Given the description of an element on the screen output the (x, y) to click on. 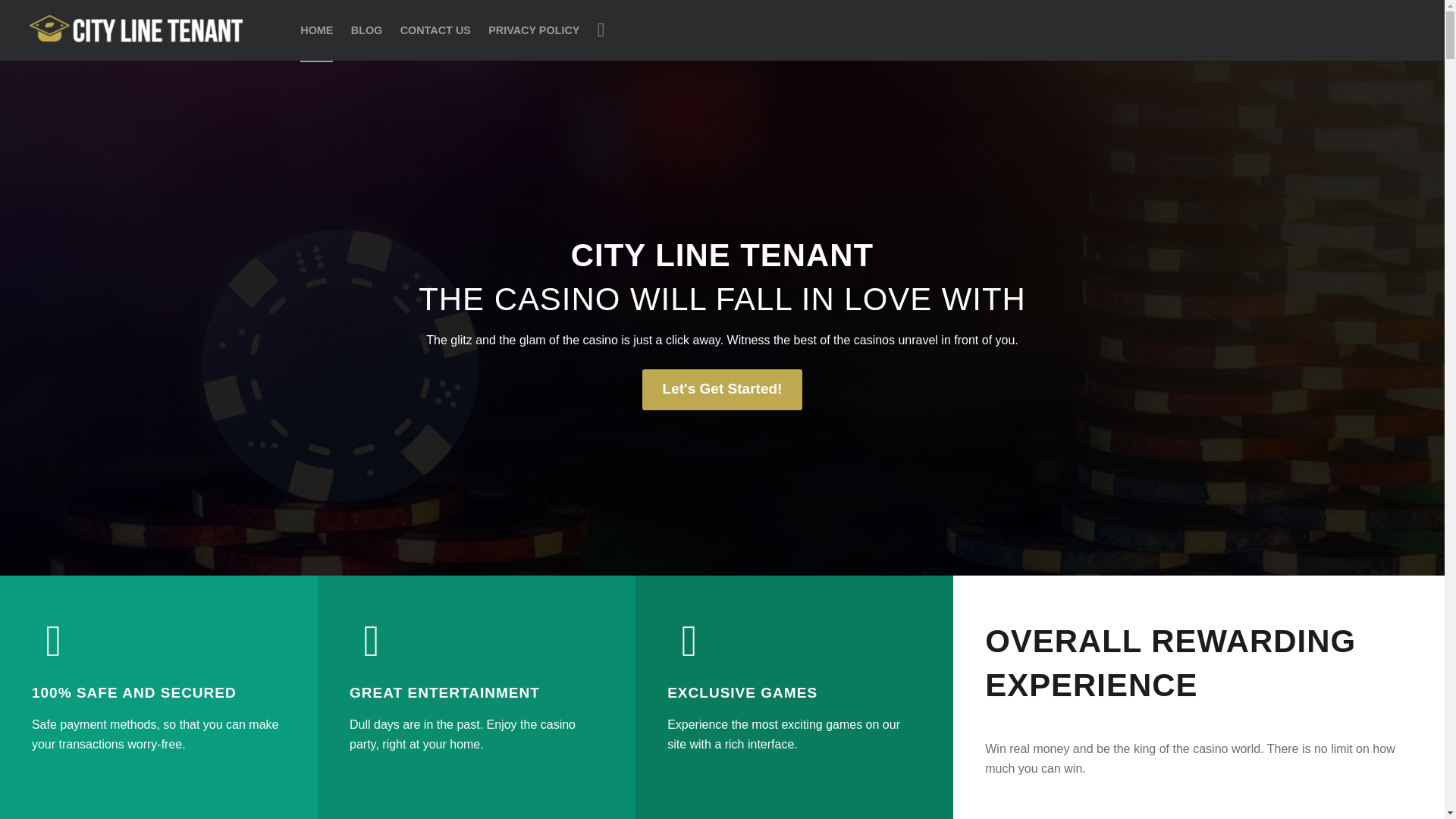
Let's Get Started! (722, 389)
PRIVACY POLICY (533, 30)
CONTACT US (435, 30)
